Given the description of an element on the screen output the (x, y) to click on. 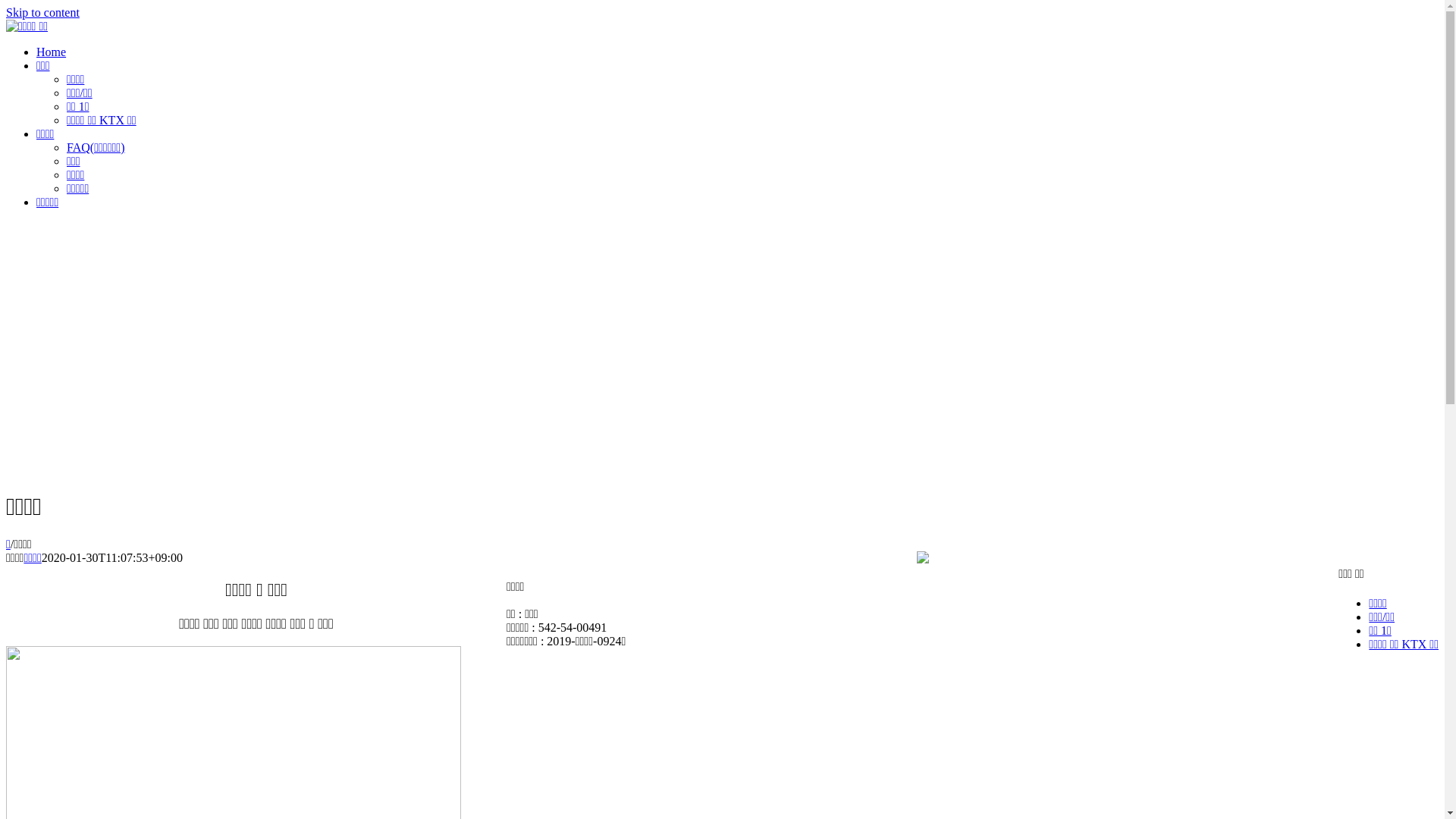
Skip to content Element type: text (42, 12)
Home Element type: text (50, 51)
